Given the description of an element on the screen output the (x, y) to click on. 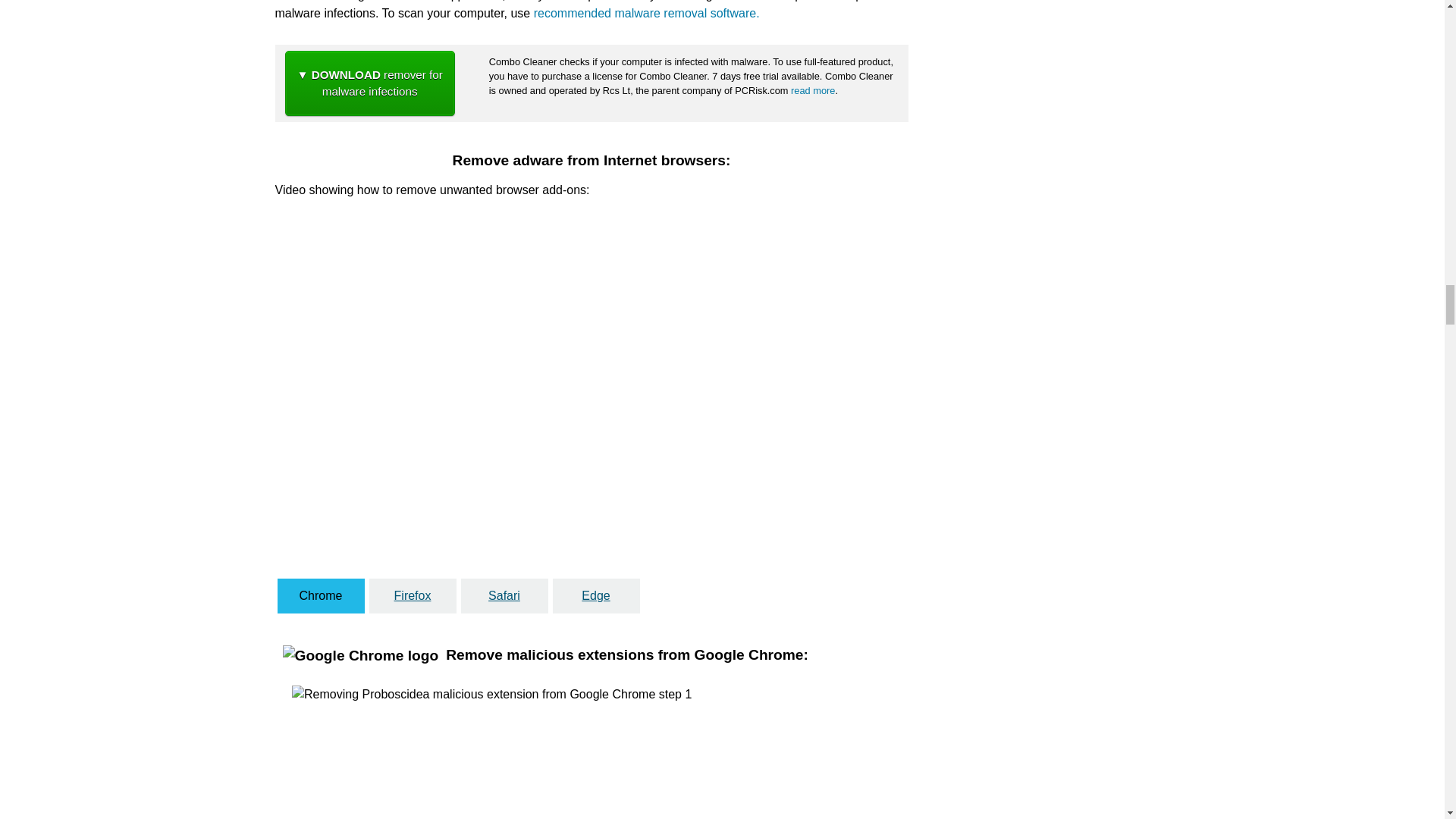
Read more about us (812, 90)
